Given the description of an element on the screen output the (x, y) to click on. 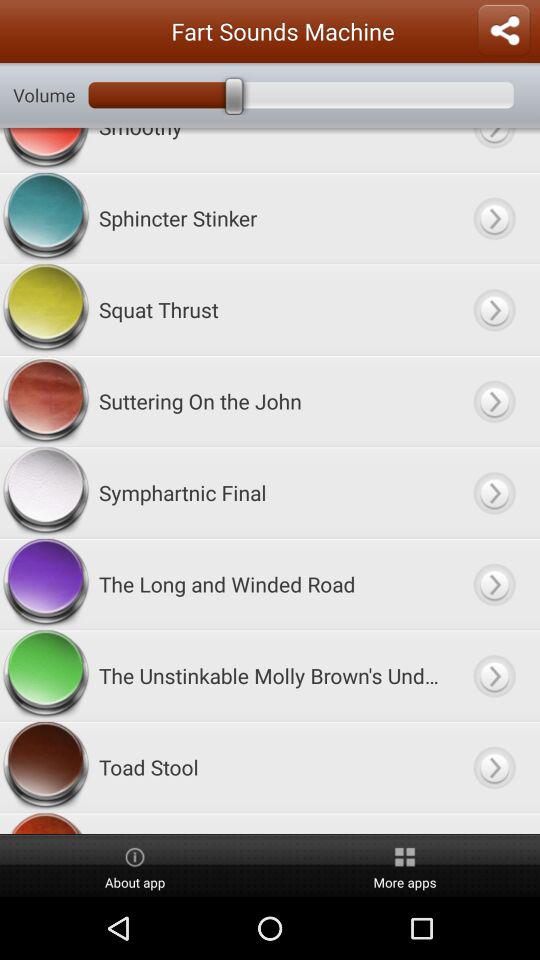
scroll to the toad stool (269, 767)
